Given the description of an element on the screen output the (x, y) to click on. 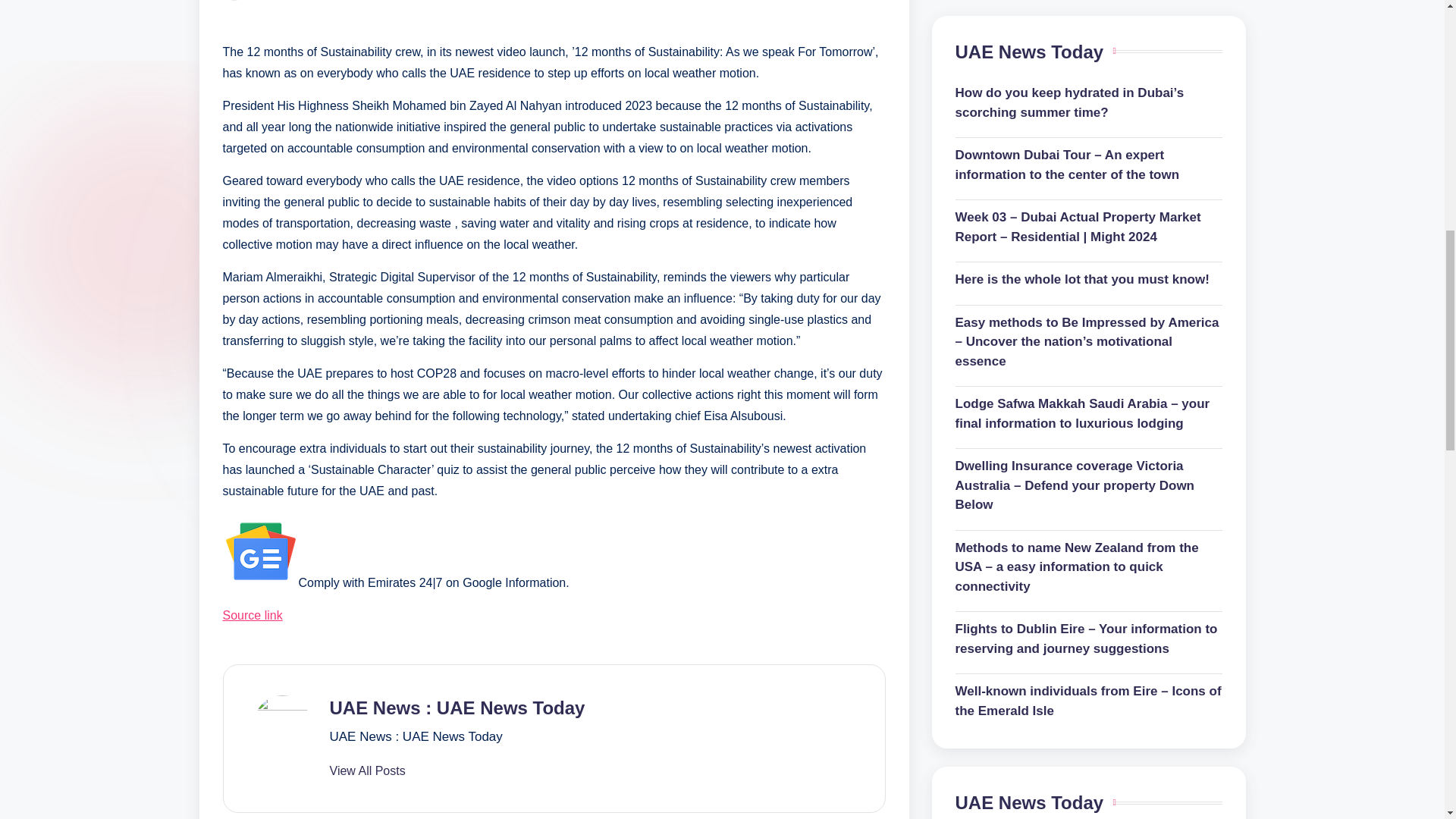
UAE News : UAE News Today (457, 707)
View All Posts (366, 771)
Source link (252, 615)
